Given the description of an element on the screen output the (x, y) to click on. 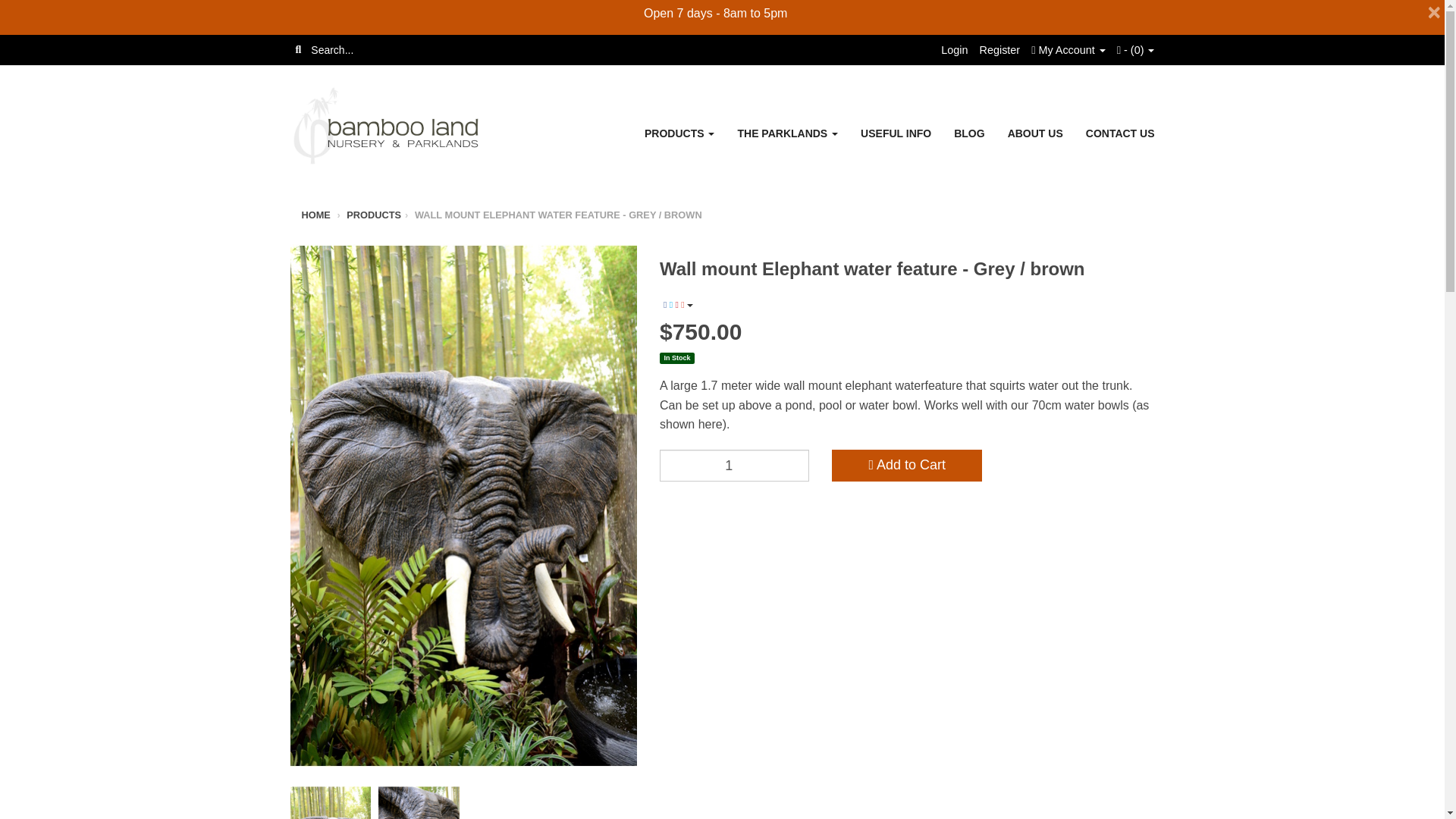
Large View (419, 802)
Login (954, 50)
Large View (330, 802)
Register (999, 50)
Search (297, 49)
Add to Cart (906, 465)
Large View (507, 802)
Register (999, 50)
PRODUCTS (679, 133)
My Account (1067, 50)
1 (734, 465)
Login (954, 50)
